Given the description of an element on the screen output the (x, y) to click on. 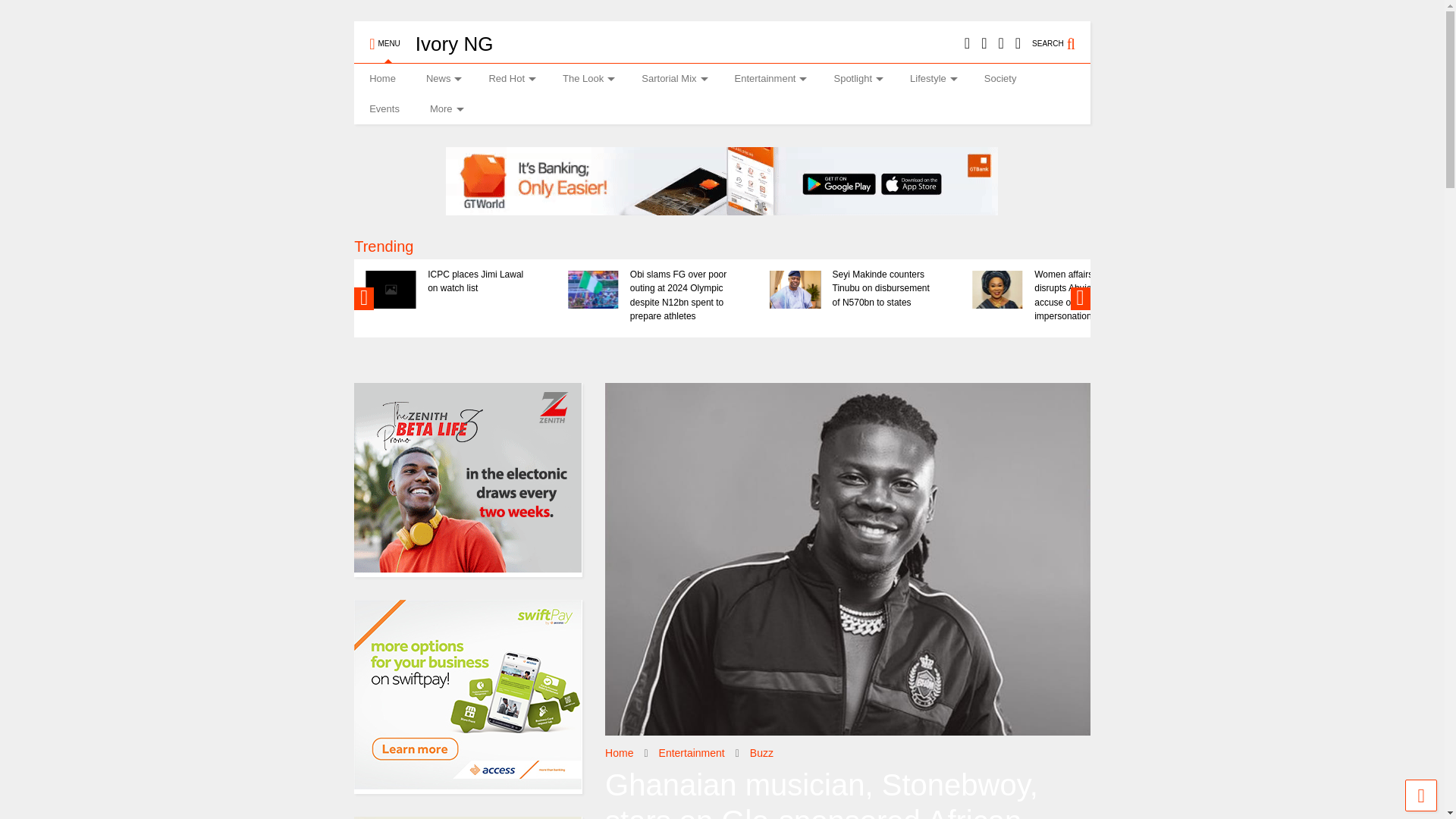
ICPC places Jimi Lawal on watch list (481, 281)
News (442, 78)
Red Hot (510, 78)
MENU (383, 37)
A Lifestyle...Expanding Possibilities (453, 43)
Sartorial Mix (672, 78)
Home (381, 78)
SEARCH (1061, 37)
ICPC places Jimi Lawal on watch list (390, 289)
